Given the description of an element on the screen output the (x, y) to click on. 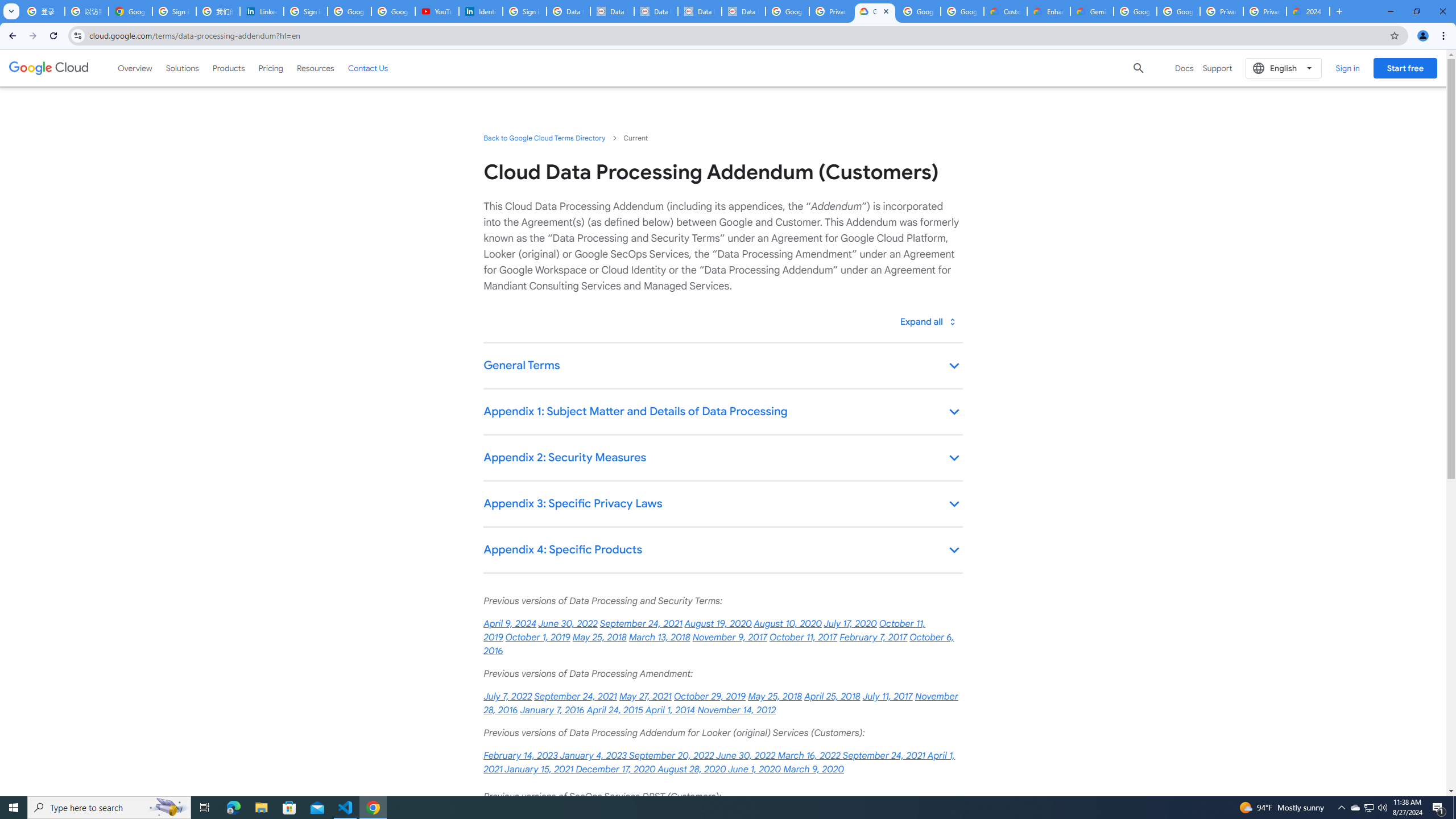
Google Cloud Platform (1134, 11)
General Terms keyboard_arrow_down (722, 366)
July 7, 2022 (507, 696)
Sign in - Google Accounts (173, 11)
Solutions (181, 67)
November 14, 2012 (736, 709)
Appendix 4: Specific Products keyboard_arrow_down (722, 550)
Resources (314, 67)
